Given the description of an element on the screen output the (x, y) to click on. 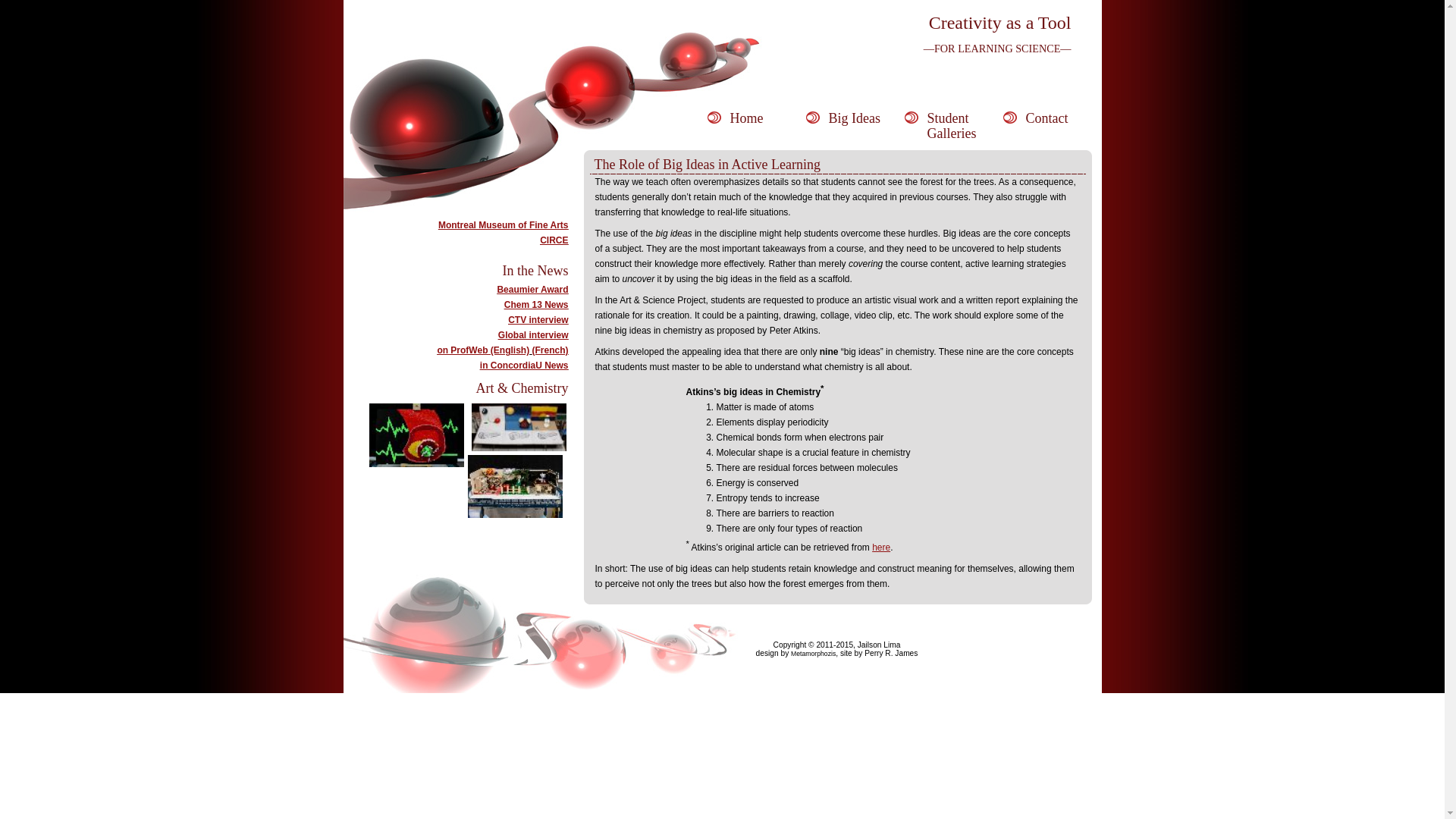
Metamorphozis Element type: text (812, 653)
here Element type: text (881, 547)
click to see the Student Gallery Element type: hover (416, 435)
CTV interview Element type: text (537, 319)
Montreal Museum of Fine Arts Element type: text (503, 224)
Chem 13 News Element type: text (536, 304)
CIRCE Element type: text (553, 240)
Student Galleries Element type: text (952, 121)
click to see the Student Gallery Element type: hover (518, 427)
click to see the Student Gallery Element type: hover (514, 486)
Beaumier Award Element type: text (531, 289)
(French) Element type: text (550, 350)
Home Element type: text (755, 121)
Global interview Element type: text (533, 334)
in ConcordiaU News Element type: text (524, 365)
on ProfWeb (English) Element type: text (482, 350)
Big Ideas Element type: text (854, 121)
Contact Element type: text (1051, 121)
